Given the description of an element on the screen output the (x, y) to click on. 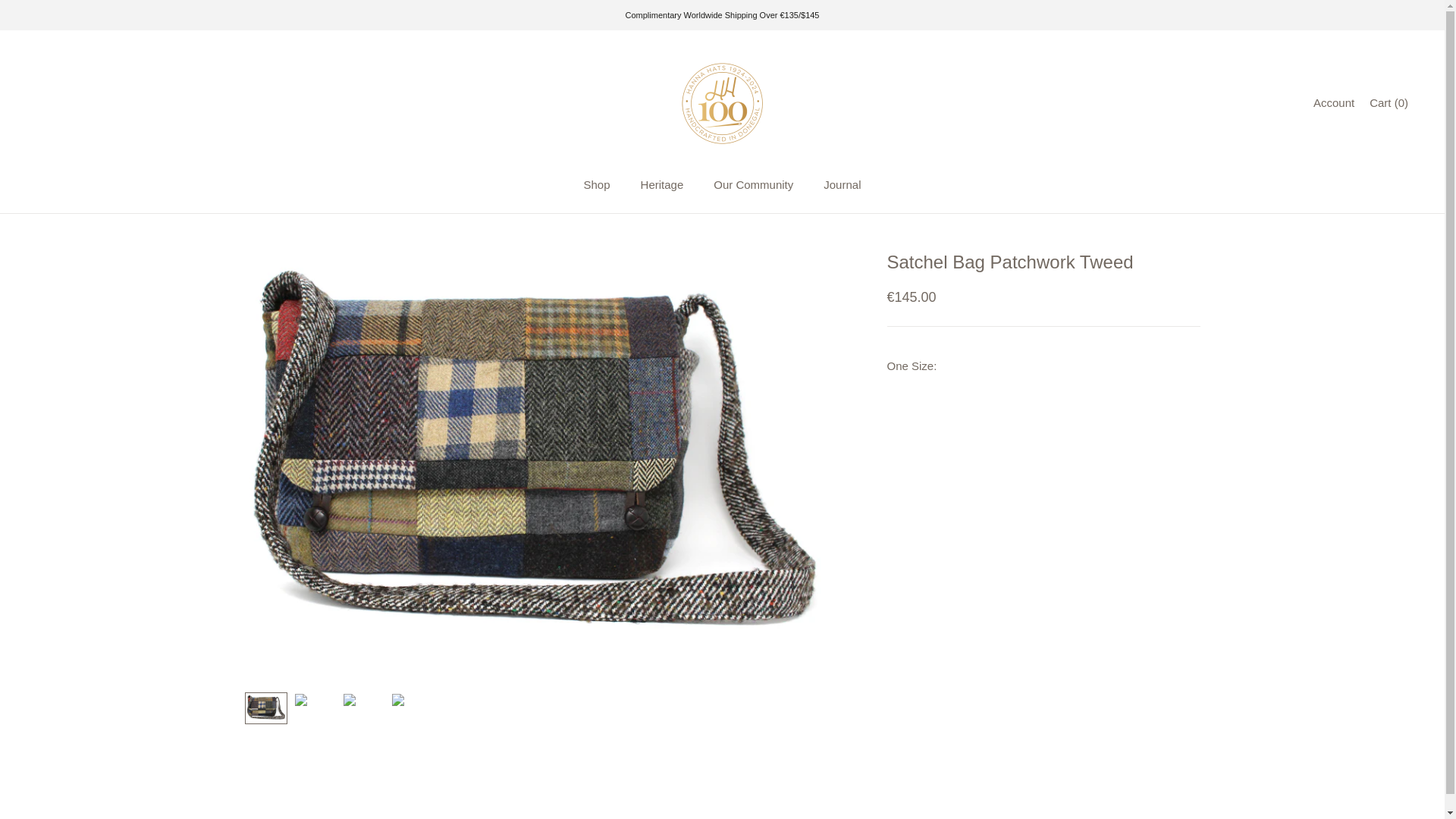
Our Community (753, 184)
Heritage (662, 184)
Hanna Hats of Donegal Ltd (721, 102)
Journal (842, 184)
